Given the description of an element on the screen output the (x, y) to click on. 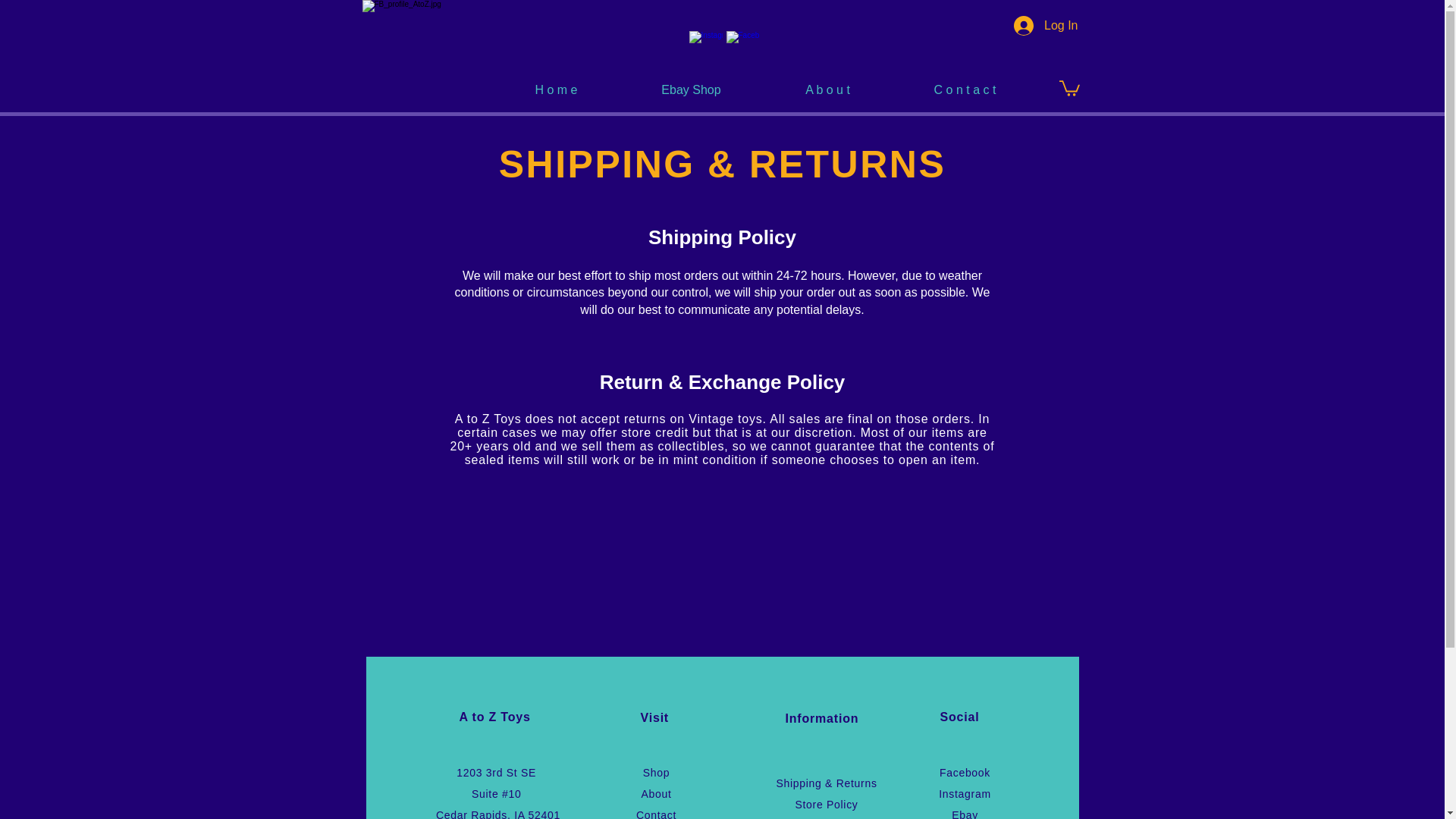
H o m e (555, 89)
A b o u t (826, 89)
Instagram (965, 793)
Shop (656, 772)
Store Policy (825, 804)
Facebook (964, 772)
Log In (1045, 25)
Contact (656, 814)
1203 3rd St SE  (497, 772)
About (655, 793)
Ebay Shop (690, 89)
Cedar Rapids, IA 52401 (497, 814)
C o n t a c t (963, 89)
Ebay (965, 814)
